Given the description of an element on the screen output the (x, y) to click on. 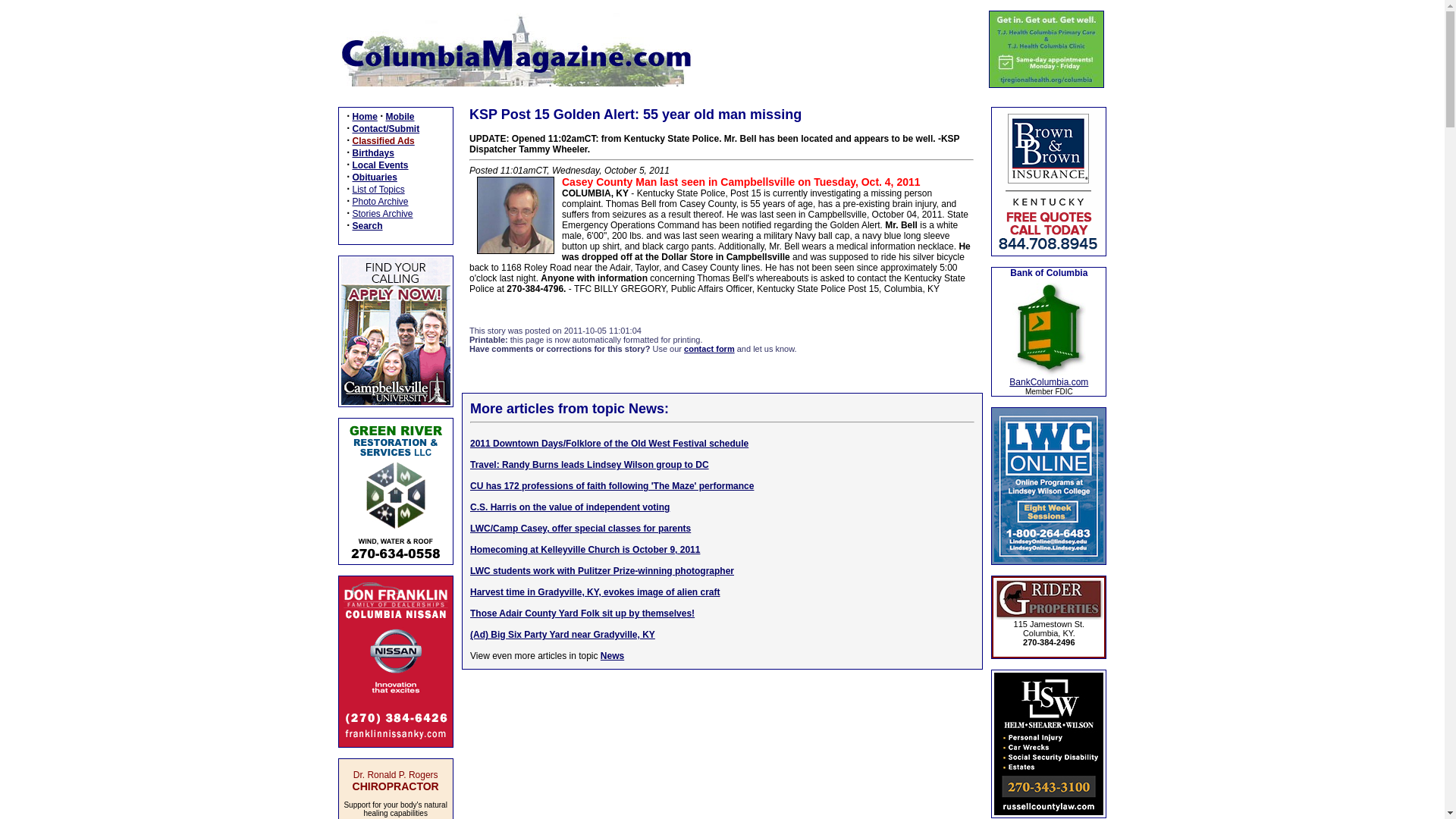
Birthdays (372, 153)
Classified Ads (382, 140)
Photo Archive (379, 201)
List of Topics (378, 189)
Home (364, 116)
Obituaries (374, 176)
Stories Archive (382, 213)
Search (366, 225)
Local Events (379, 164)
Mobile (399, 116)
